Given the description of an element on the screen output the (x, y) to click on. 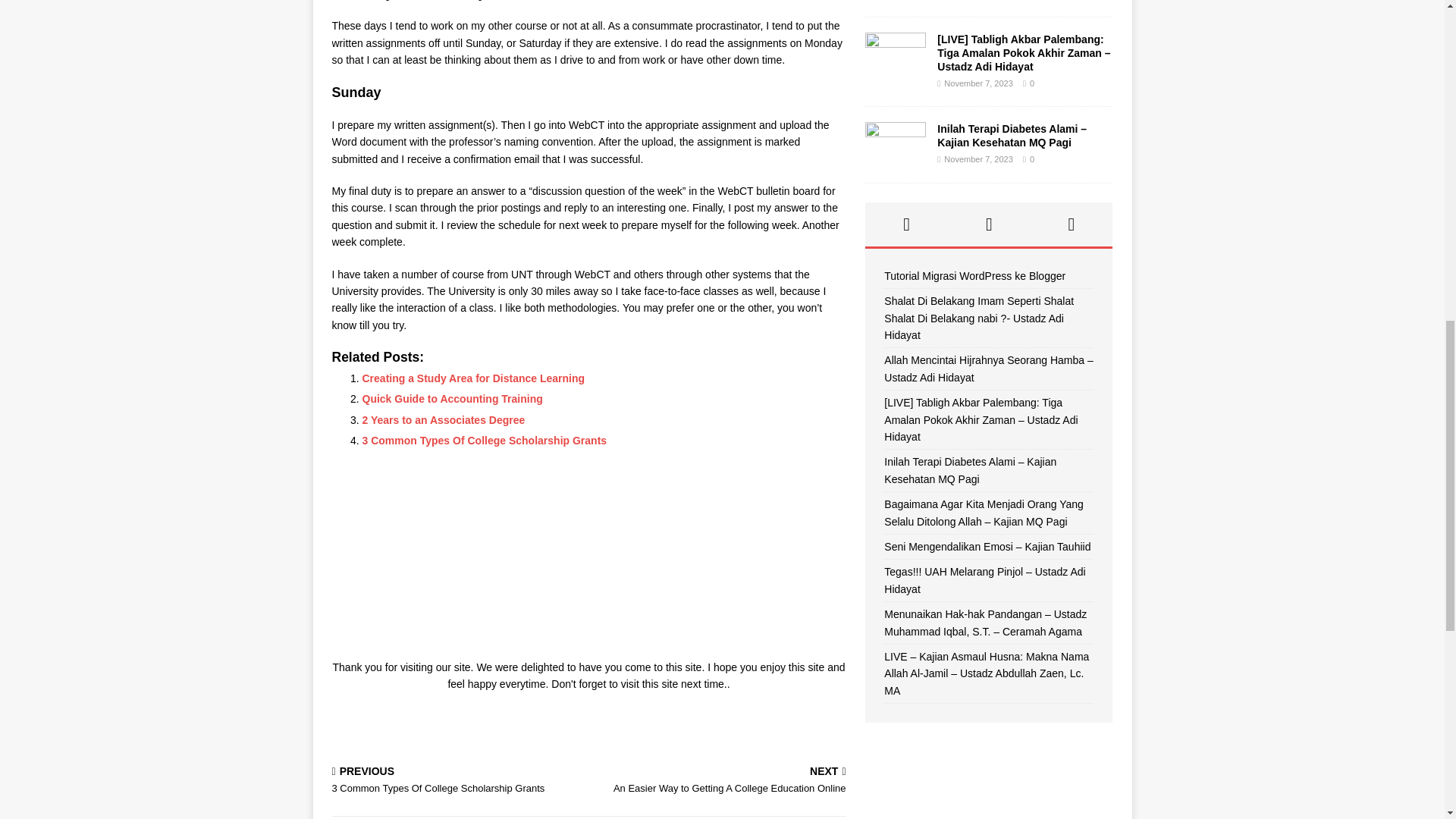
Quick Guide to Accounting Training (452, 398)
Creating a Study Area for Distance Learning (457, 780)
2 Years to an Associates Degree (720, 780)
3 Common Types Of College Scholarship Grants (473, 378)
Quick Guide to Accounting Training (443, 419)
3 Common Types Of College Scholarship Grants (484, 440)
Creating a Study Area for Distance Learning (452, 398)
2 Years to an Associates Degree (484, 440)
